Given the description of an element on the screen output the (x, y) to click on. 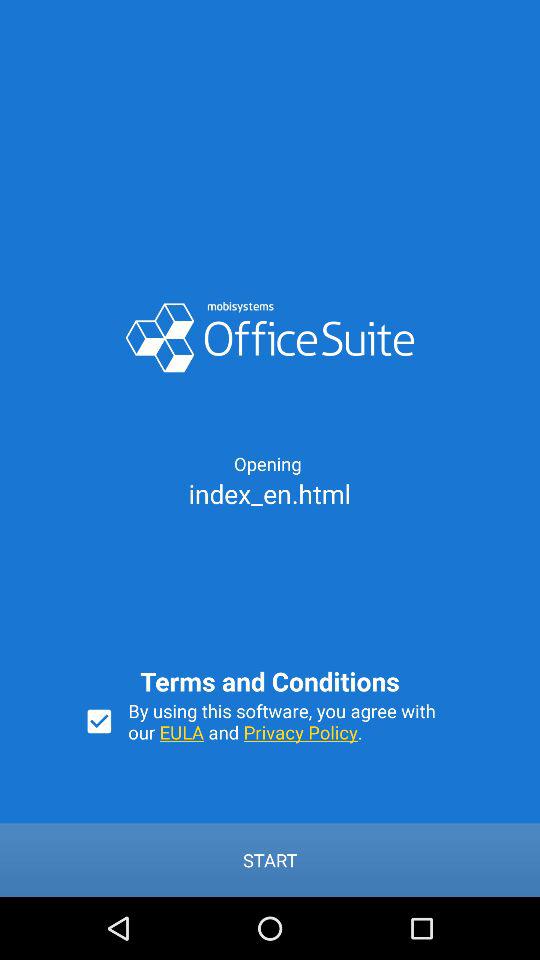
turn on the item to the left of the by using this (99, 721)
